Given the description of an element on the screen output the (x, y) to click on. 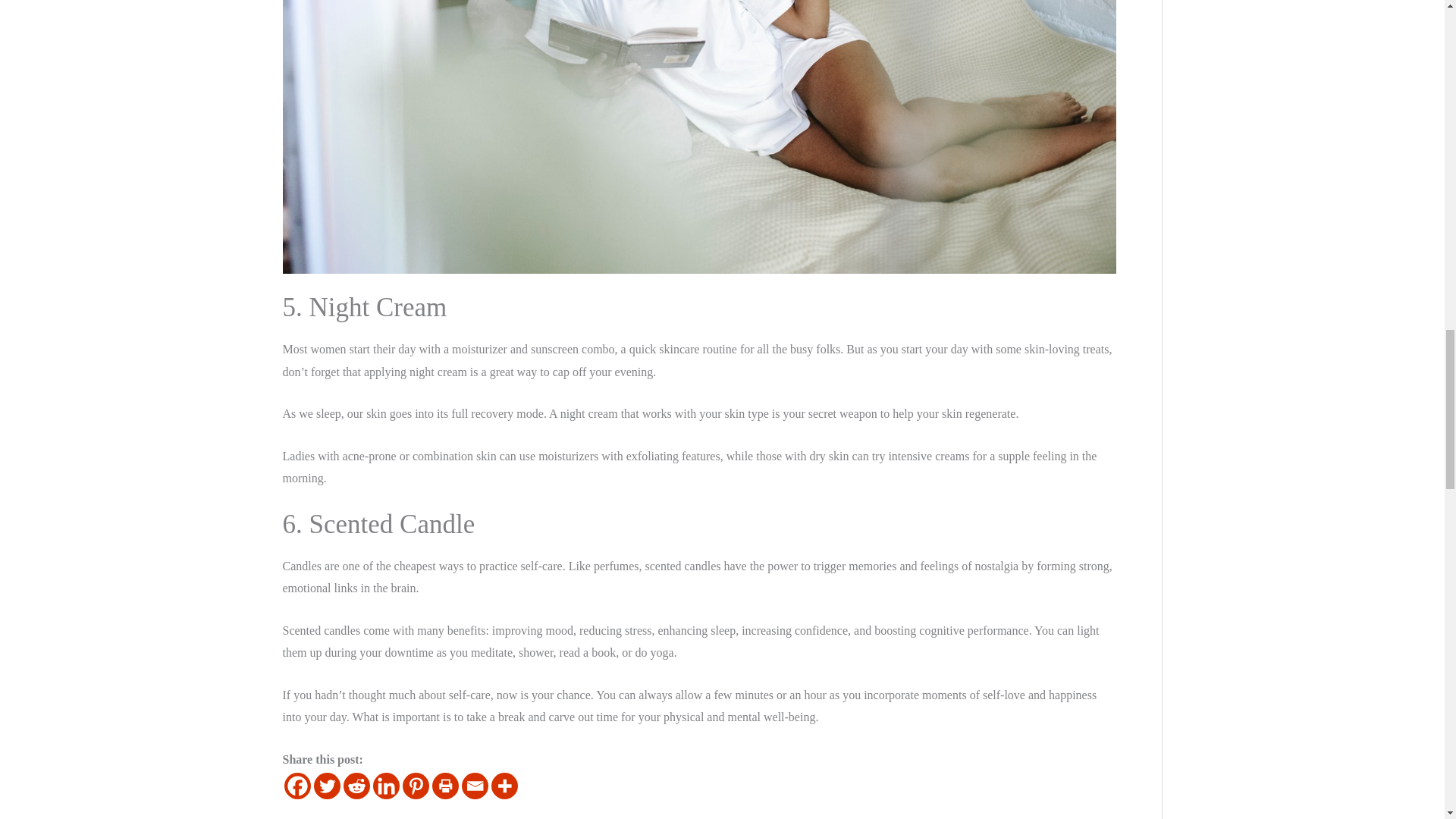
Twitter (327, 786)
Linkedin (385, 786)
Email (474, 786)
Print (445, 786)
Pinterest (414, 786)
Reddit (355, 786)
Facebook (296, 786)
More (505, 786)
